Given the description of an element on the screen output the (x, y) to click on. 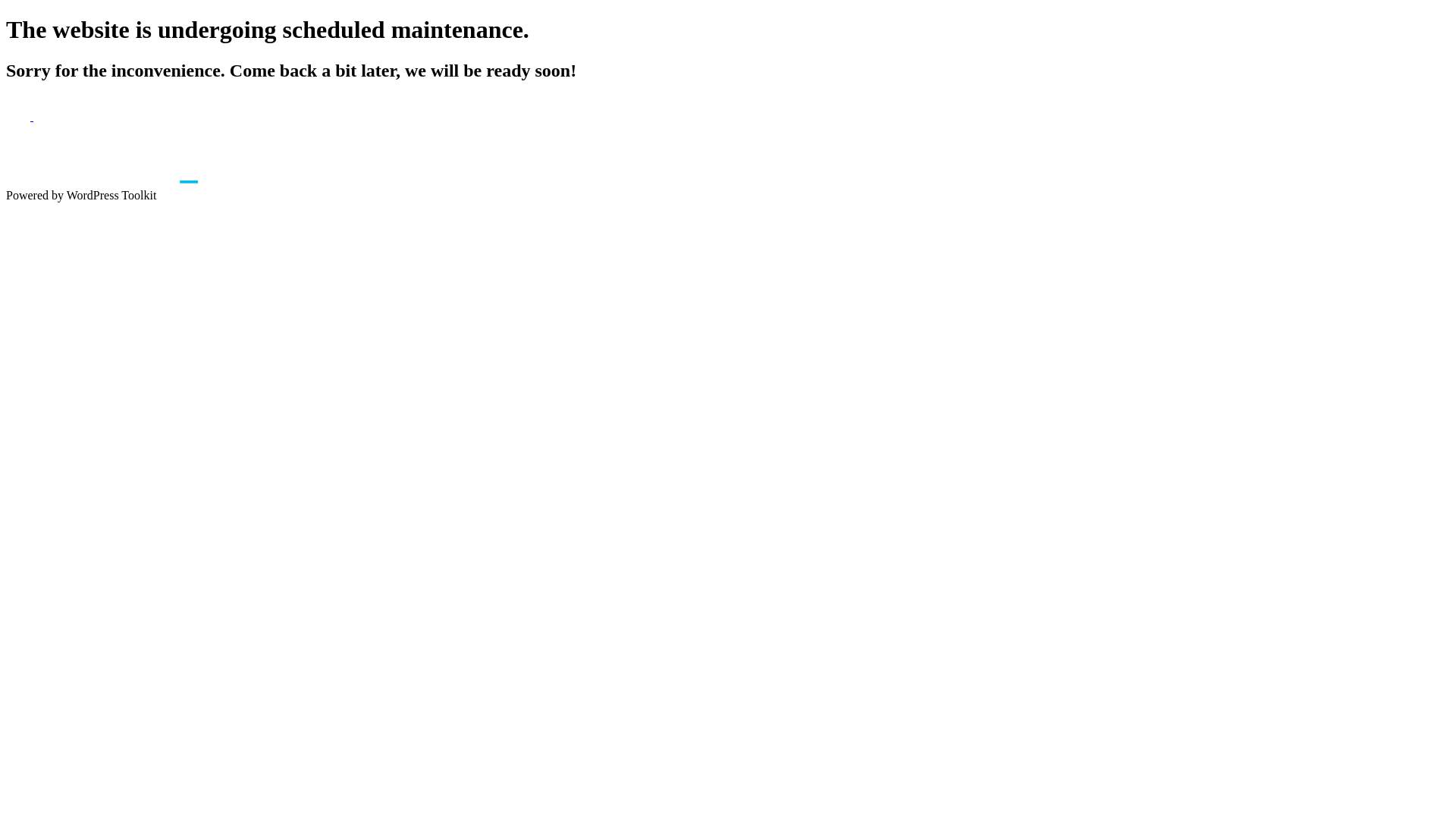
Facebook Element type: hover (19, 115)
Twitter Element type: hover (45, 115)
